Given the description of an element on the screen output the (x, y) to click on. 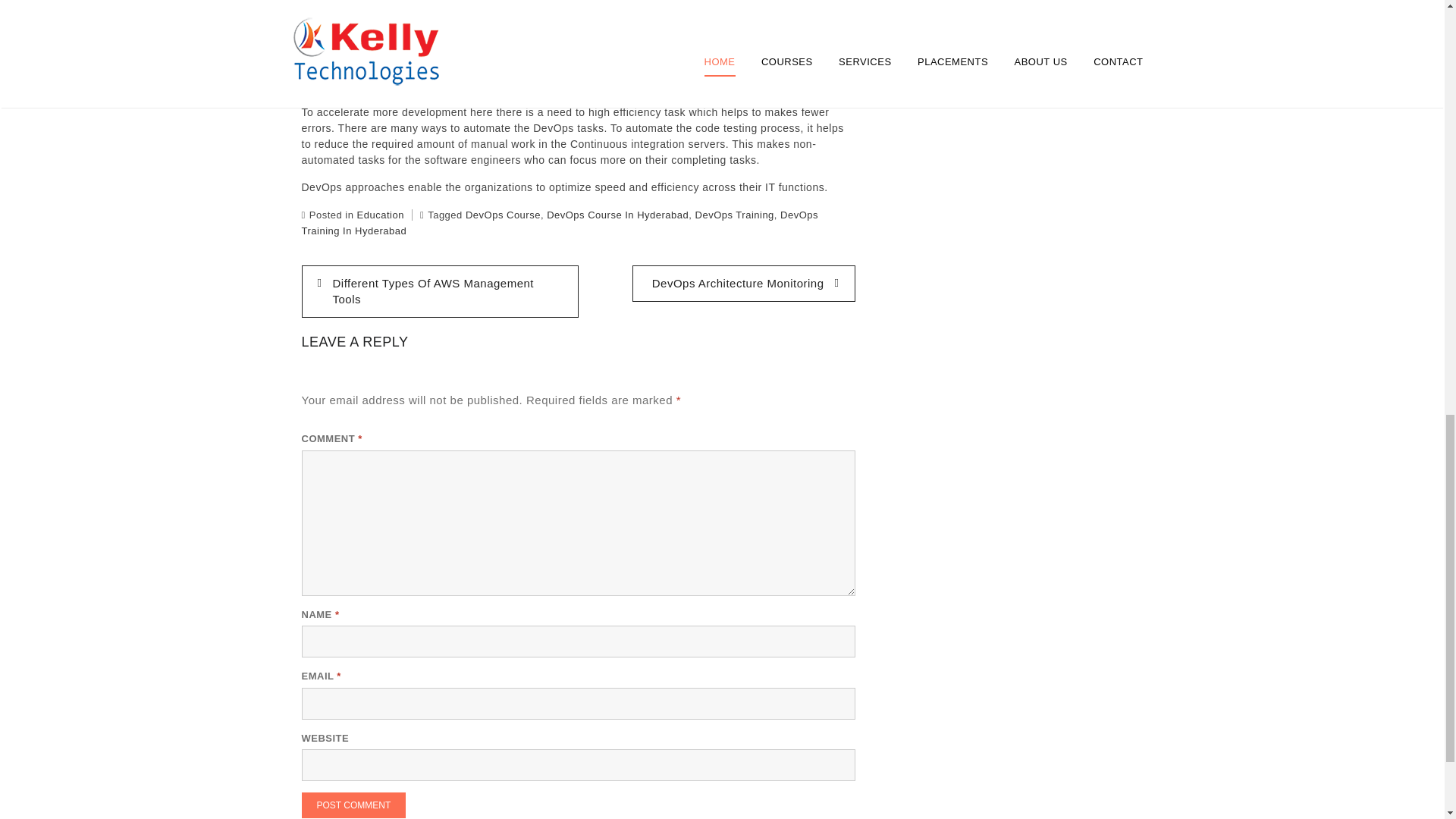
Different Types Of AWS Management Tools (439, 291)
Education (380, 214)
DevOps Course (502, 214)
DevOps Architecture Monitoring (743, 283)
Post Comment (353, 805)
DevOps Training In Hyderabad (559, 222)
Post Comment (353, 805)
DevOps Training (734, 214)
DevOps Course In Hyderabad (617, 214)
